Given the description of an element on the screen output the (x, y) to click on. 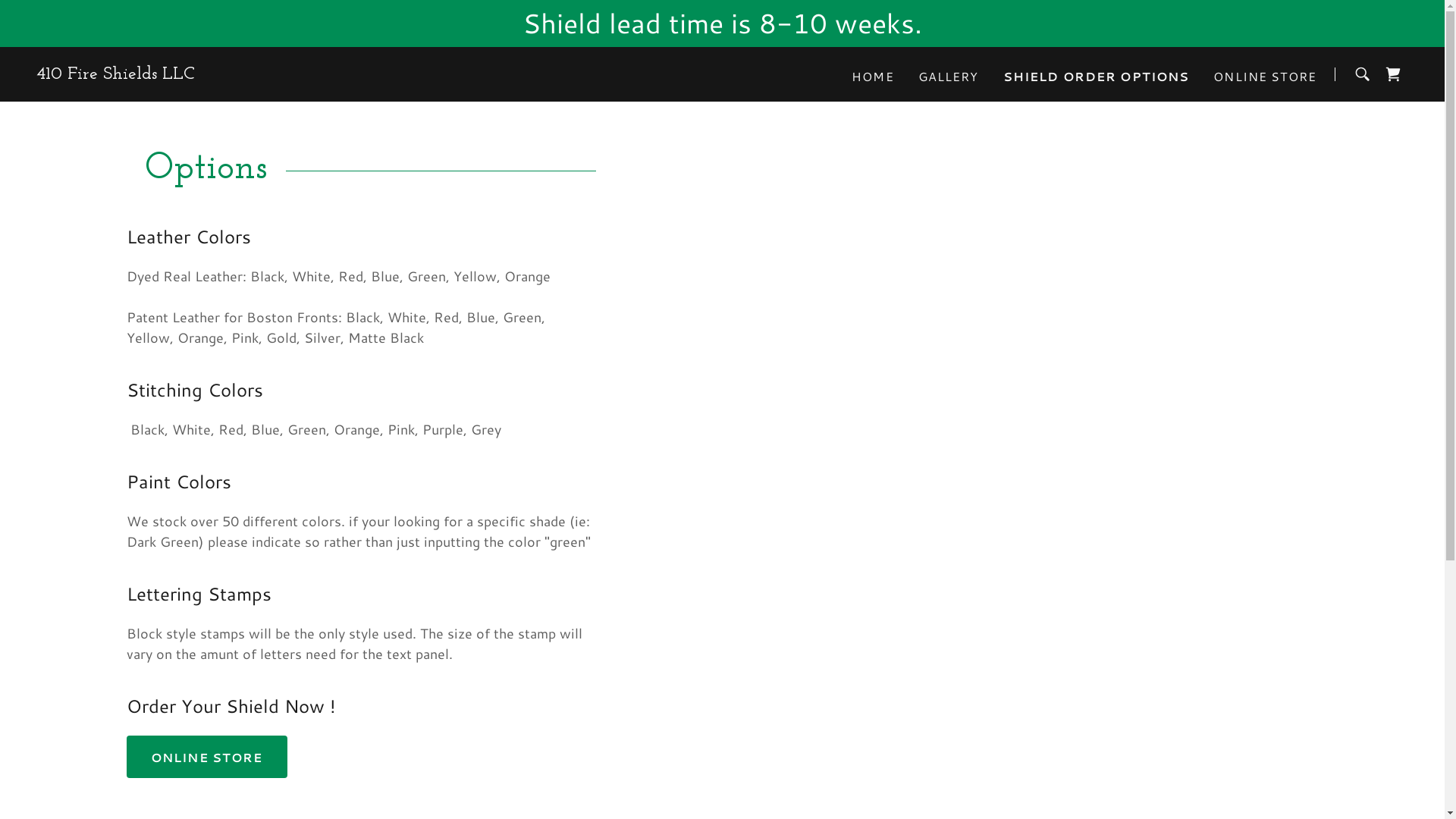
410 Fire Shields LLC Element type: text (115, 73)
GALLERY Element type: text (948, 75)
ONLINE STORE Element type: text (1264, 75)
ONLINE STORE Element type: text (206, 756)
SHIELD ORDER OPTIONS Element type: text (1096, 75)
HOME Element type: text (872, 75)
